Given the description of an element on the screen output the (x, y) to click on. 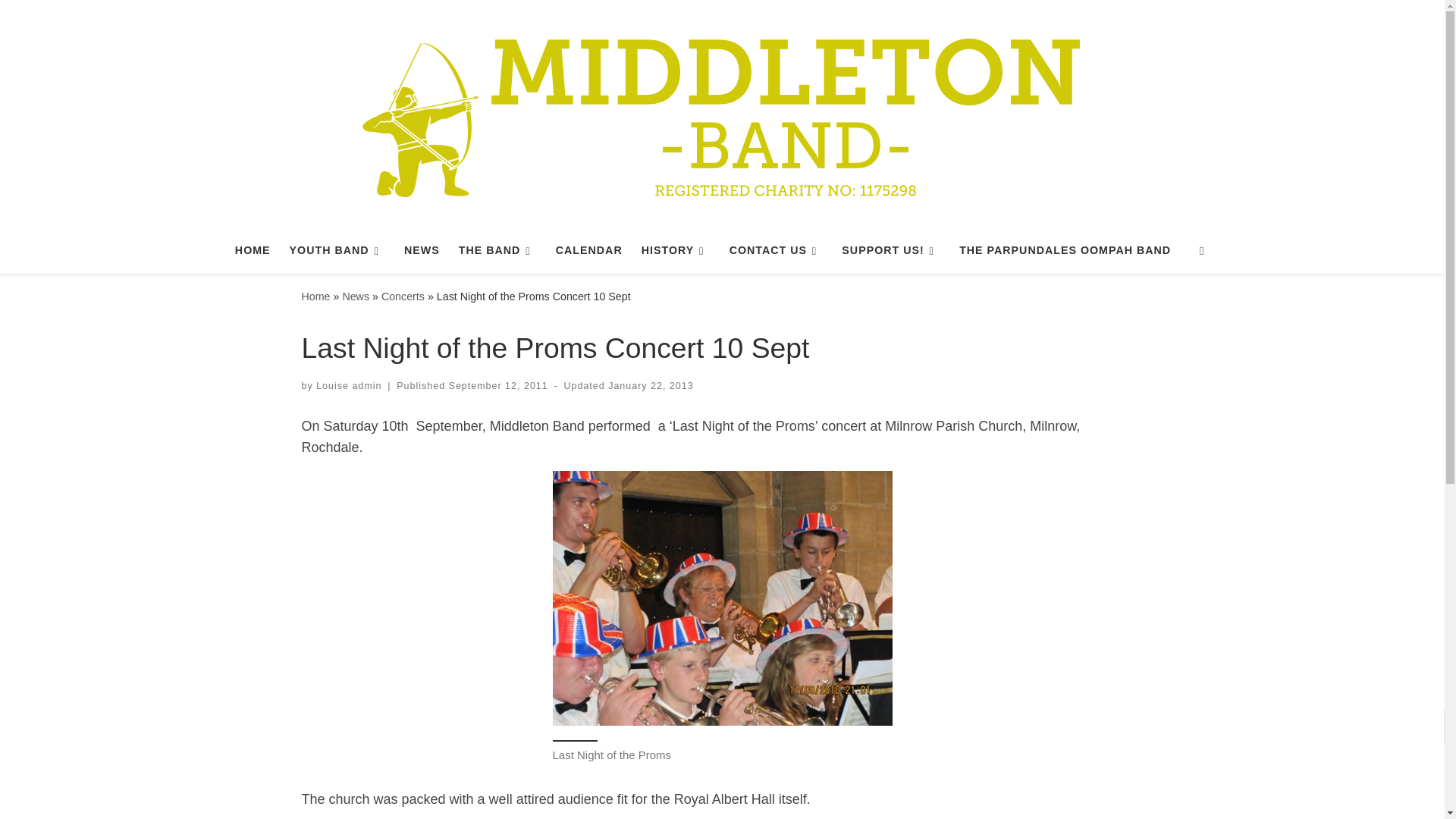
4:23 pm (650, 385)
CALENDAR (588, 250)
THE PARPUNDALES OOMPAH BAND (1065, 250)
Middleton Band (315, 296)
Concerts (403, 296)
NEWS (421, 250)
CONTACT US (775, 250)
View all posts by Louise admin (348, 385)
YOUTH BAND (336, 250)
4:23 pm (498, 385)
Skip to content (60, 20)
HOME (252, 250)
SUPPORT US! (890, 250)
THE BAND (496, 250)
The back row Bugle corp!  (721, 597)
